Given the description of an element on the screen output the (x, y) to click on. 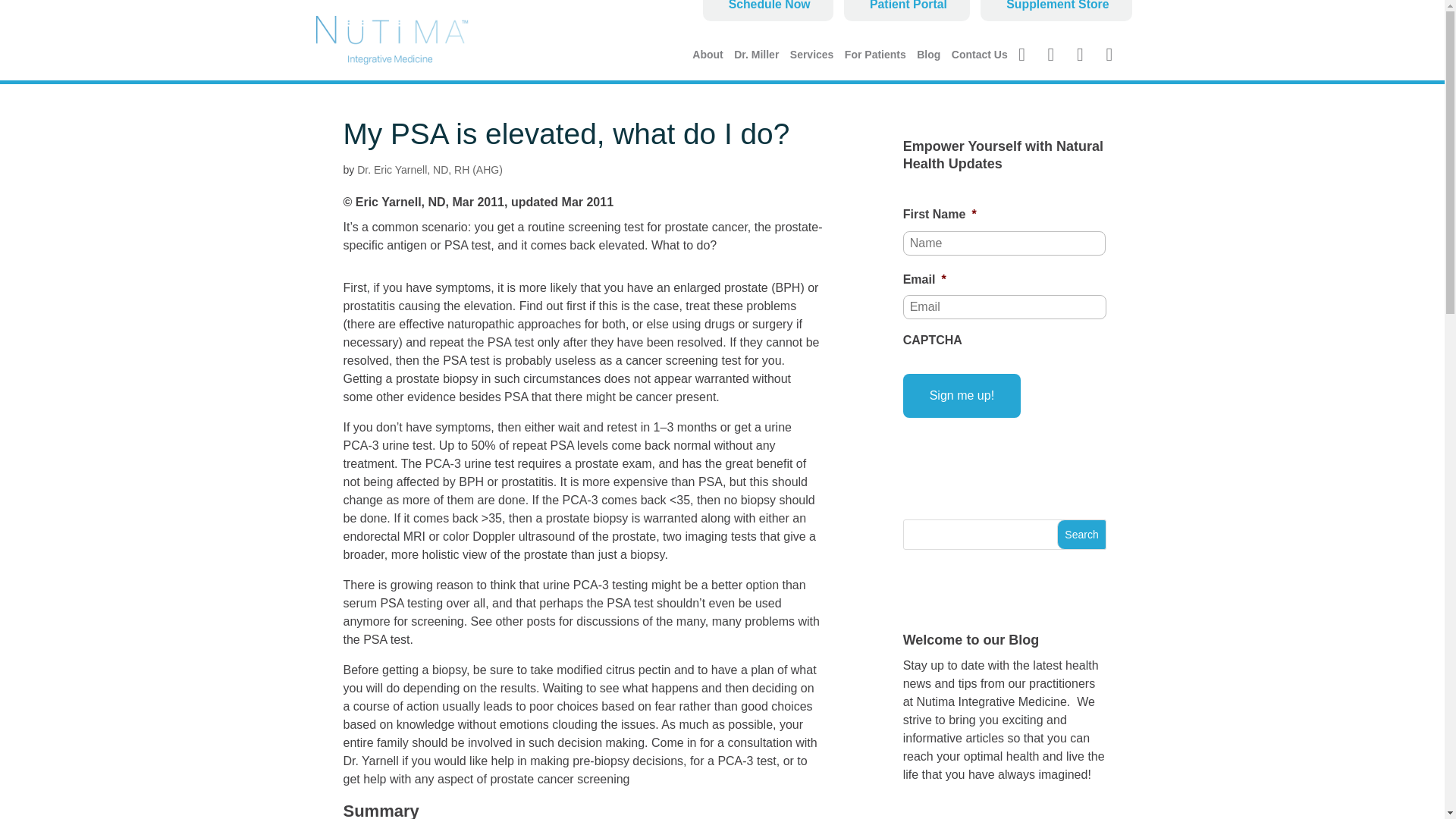
Youtube (1056, 55)
Schedule Now (767, 10)
Facebook (1026, 55)
For Patients (874, 64)
Blog (928, 64)
Contact Us (979, 64)
Services (812, 64)
Supplement Store (1055, 10)
Search (1081, 534)
Instagram (1114, 55)
Sign me up! (961, 395)
Pinterest (1085, 55)
Dr. Miller (755, 64)
About (707, 64)
Patient Portal (906, 10)
